Given the description of an element on the screen output the (x, y) to click on. 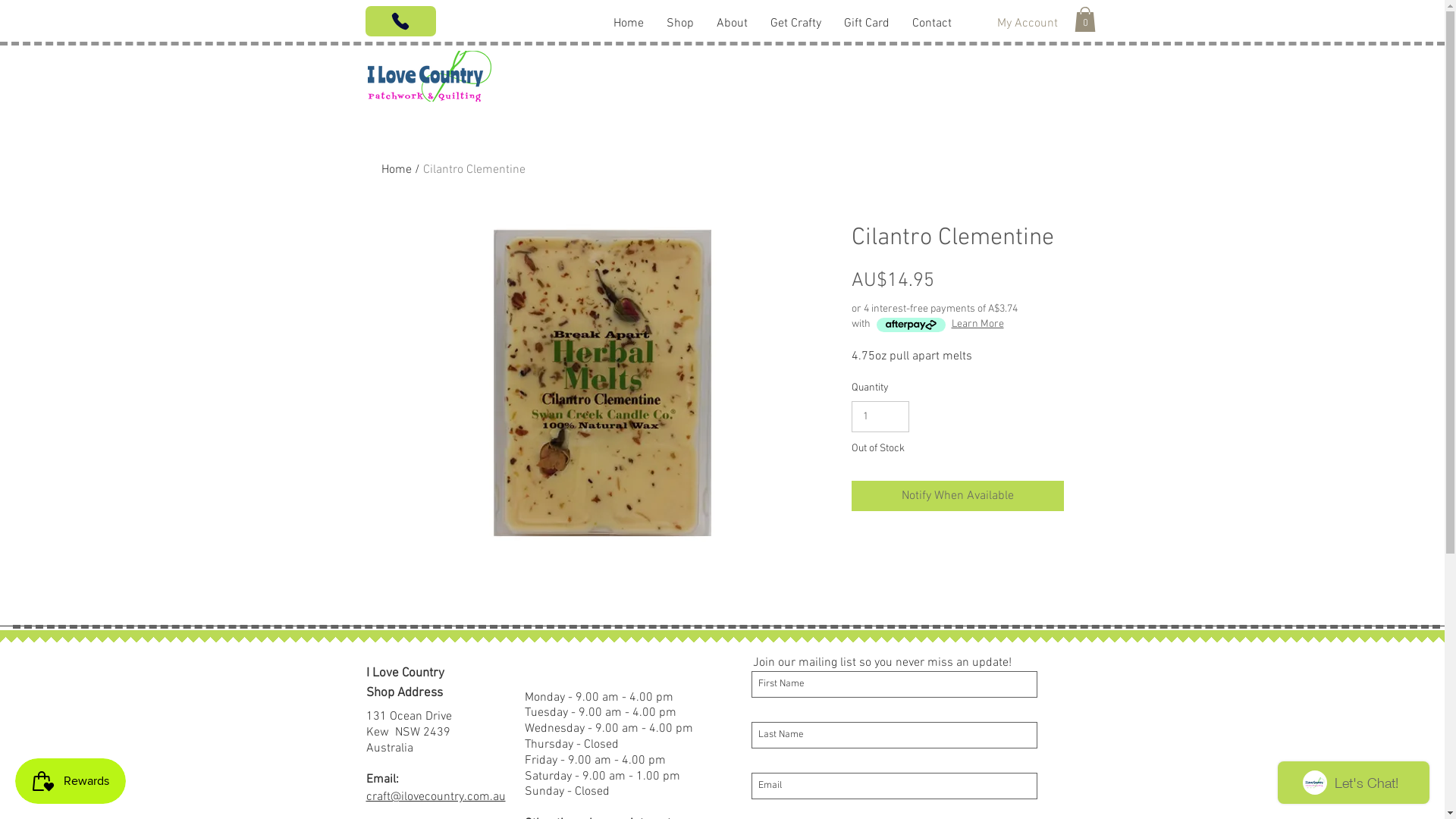
My Account Element type: text (1026, 23)
0 Element type: text (1084, 18)
Site Search Element type: hover (523, 22)
Home Element type: text (395, 169)
About Element type: text (732, 22)
Learn More Element type: text (976, 324)
Smile.io Rewards Program Launcher Element type: hover (70, 780)
Shop Element type: text (680, 22)
Get Crafty Element type: text (795, 22)
Home Element type: text (628, 22)
Gift Card Element type: text (866, 22)
craft@ilovecountry.com.au Element type: text (435, 796)
Cilantro Clementine Element type: text (474, 169)
Notify When Available Element type: text (956, 495)
Contact Element type: text (931, 22)
